Given the description of an element on the screen output the (x, y) to click on. 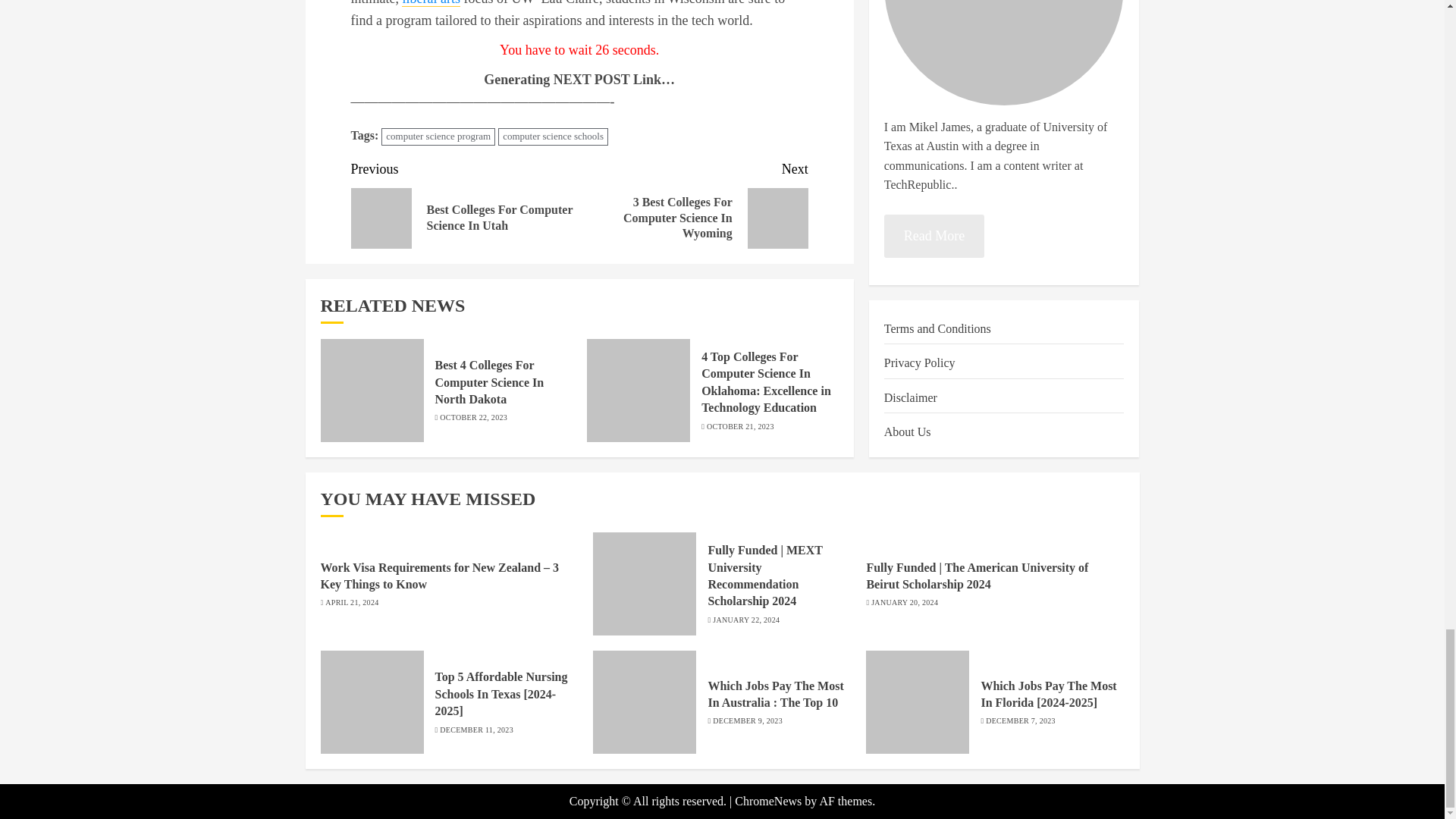
computer science schools (552, 136)
liberal arts (430, 3)
computer science program (438, 136)
